Given the description of an element on the screen output the (x, y) to click on. 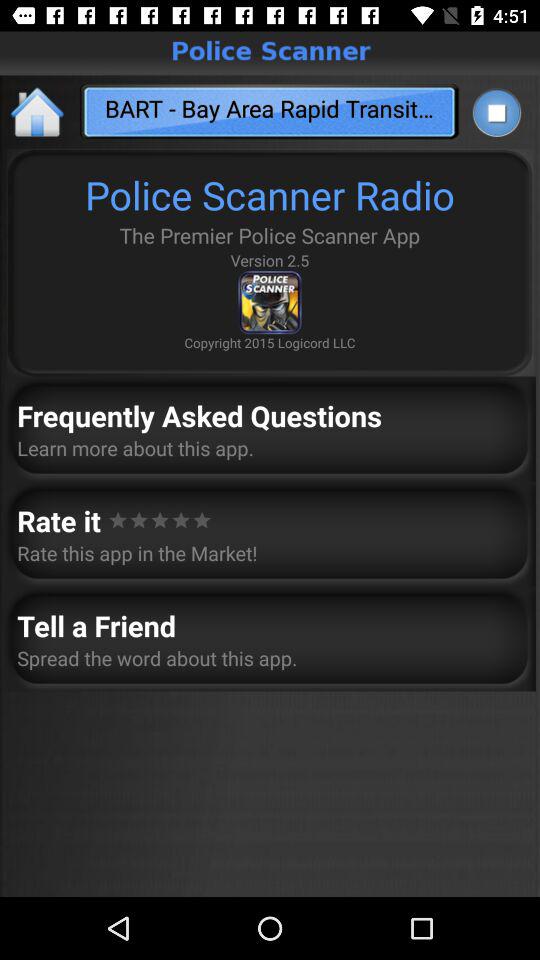
select the image of police scanner (270, 302)
click on the text below the police scanner (269, 111)
